Given the description of an element on the screen output the (x, y) to click on. 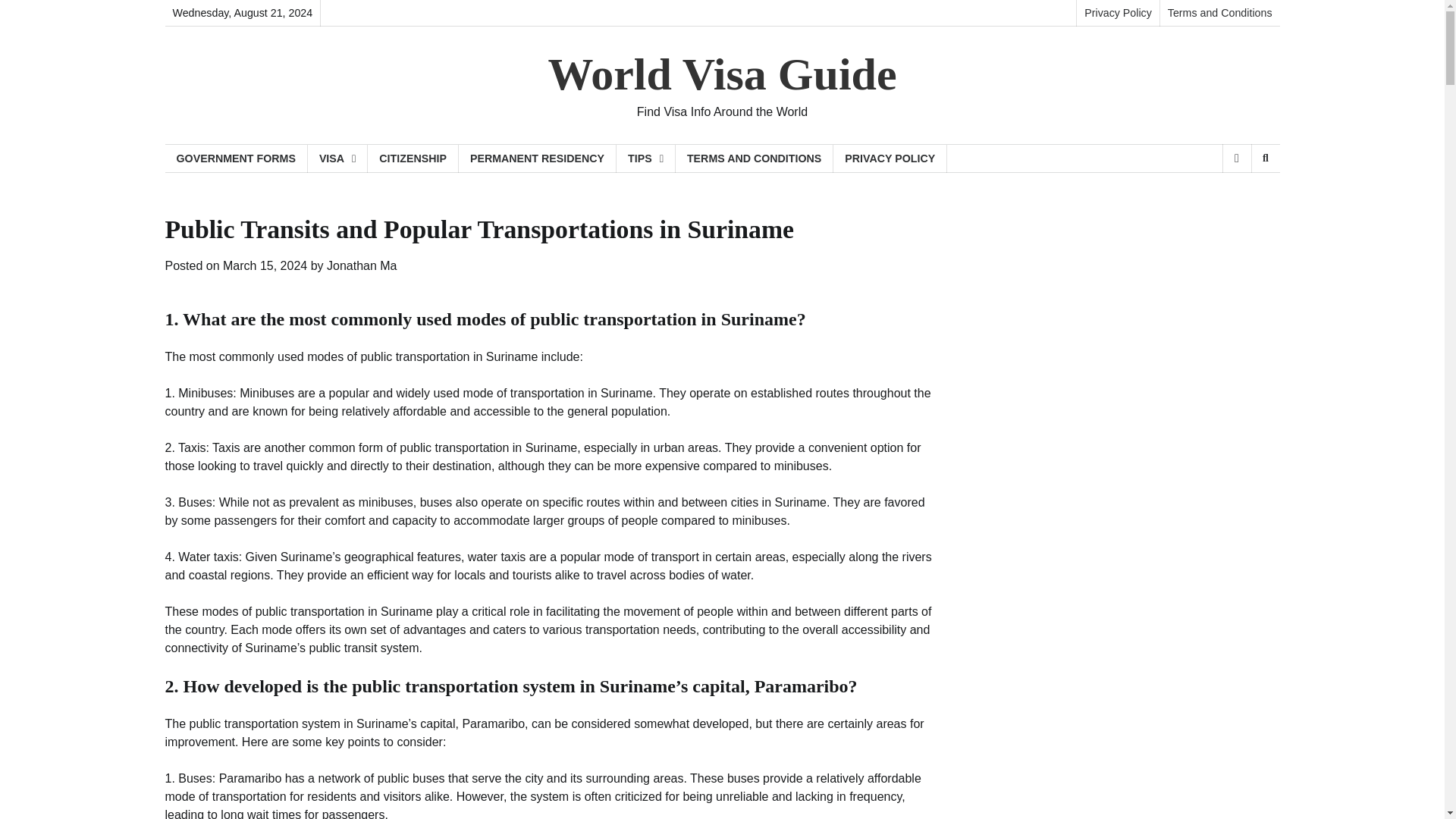
TERMS AND CONDITIONS (753, 158)
Privacy Policy (1116, 13)
PERMANENT RESIDENCY (536, 158)
World Visa Guide (721, 74)
View Random Post (1236, 158)
VISA (337, 158)
March 15, 2024 (264, 265)
GOVERNMENT FORMS (236, 158)
Search (1264, 158)
CITIZENSHIP (413, 158)
